Given the description of an element on the screen output the (x, y) to click on. 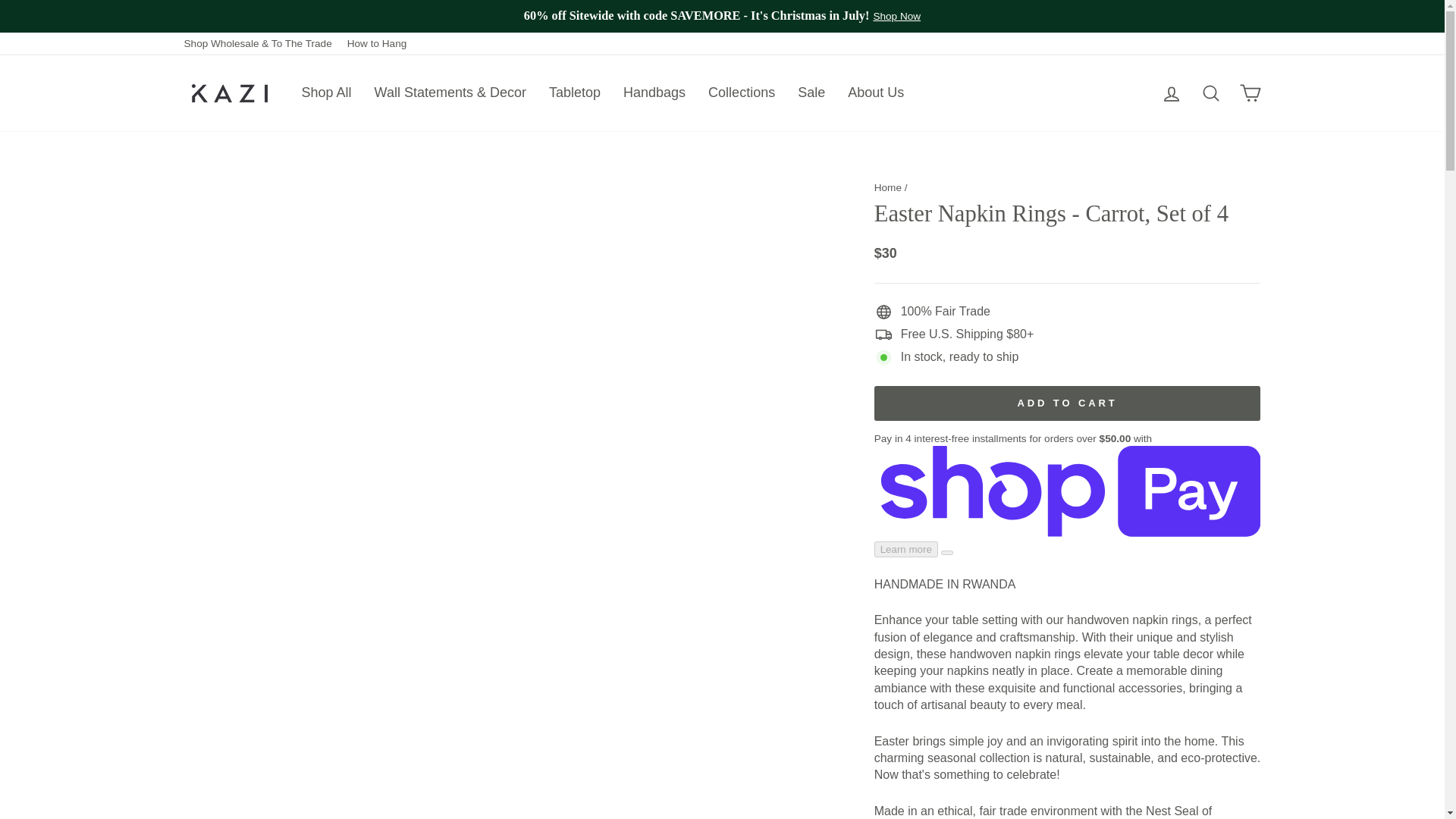
Back to the frontpage (888, 187)
